Given the description of an element on the screen output the (x, y) to click on. 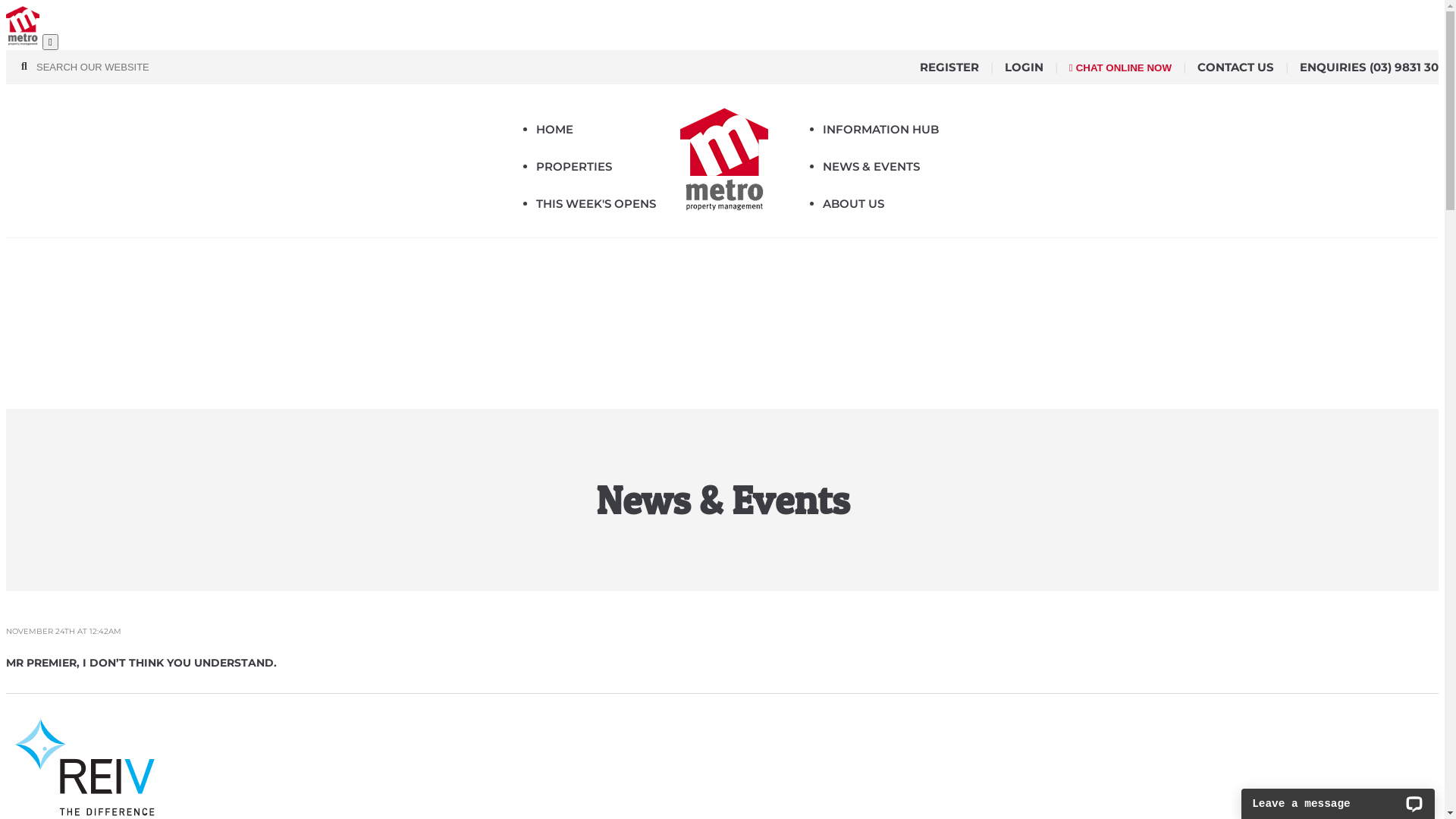
INFORMATION HUB Element type: text (880, 129)
CONTACT US Element type: text (1235, 66)
REGISTER Element type: text (949, 66)
NEWS & EVENTS Element type: text (870, 166)
ENQUIRIES (03) 9831 3000 Element type: text (1376, 66)
HOME Element type: text (554, 129)
PROPERTIES Element type: text (573, 166)
THIS WEEK'S OPENS Element type: text (595, 203)
ABOUT US Element type: text (853, 203)
CHAT ONLINE NOW Element type: text (1120, 67)
LOGIN Element type: text (1023, 66)
